Given the description of an element on the screen output the (x, y) to click on. 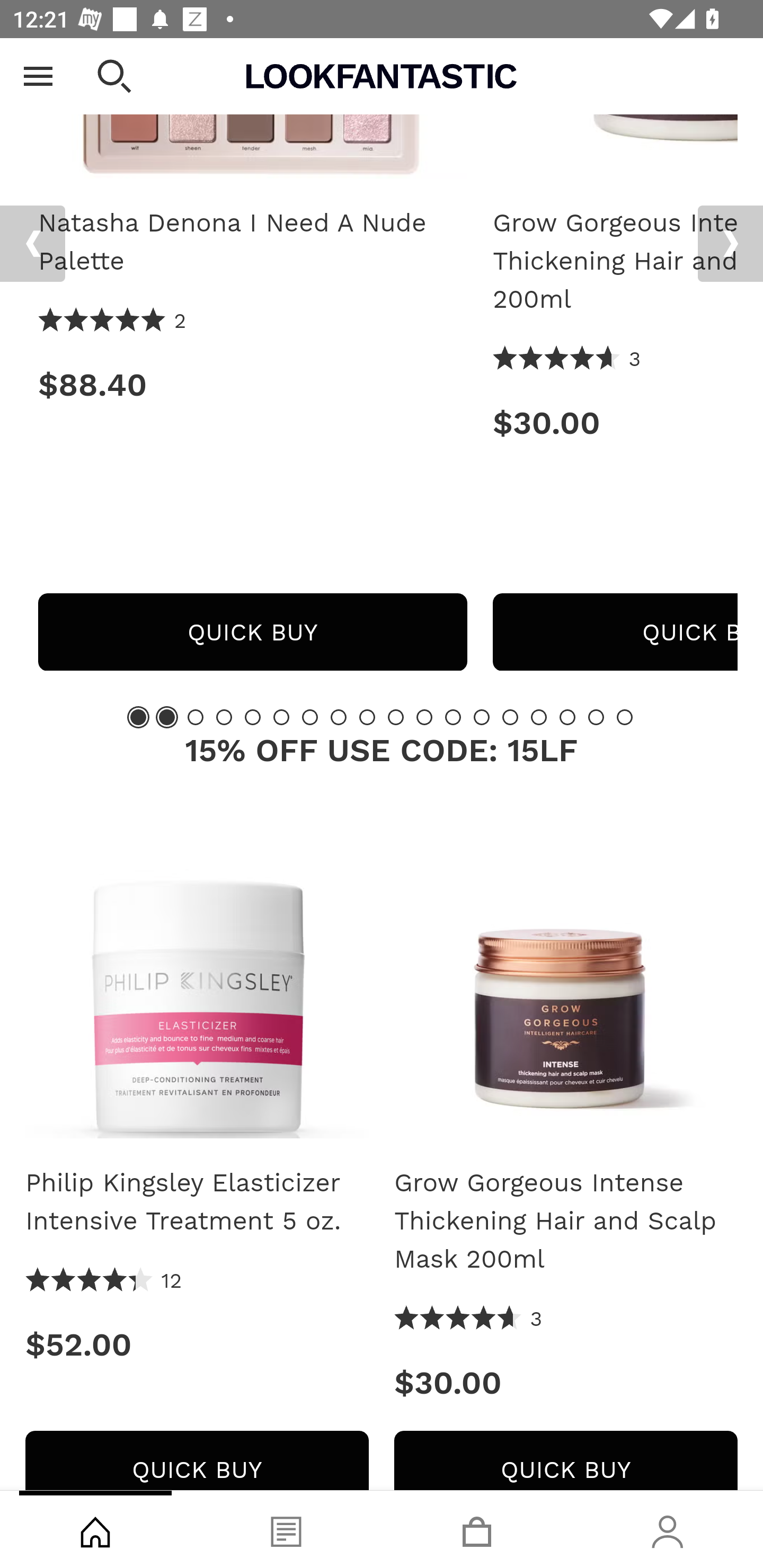
Natasha Denona I Need A Nude Palette (252, 242)
Previous (32, 243)
Next (730, 243)
5.0 Stars 2 Reviews (112, 321)
4.67 Stars 3 Reviews (567, 359)
Price: $88.40 (252, 384)
Price: $30.00 (614, 422)
QUICK BUY NATASHA DENONA I NEED A NUDE PALETTE (252, 632)
Showing Slide 1 (Current Item) (138, 716)
Showing Slide 2 (Current Item) (166, 716)
Slide 3 (195, 716)
Slide 4 (223, 716)
Slide 5 (252, 716)
Slide 6 (281, 716)
Slide 7 (310, 716)
Slide 8 (338, 716)
Slide 9 (367, 716)
Slide 10 (395, 716)
Slide 11 (424, 716)
Slide 12 (452, 716)
Slide 13 (481, 716)
Slide 14 (510, 716)
Slide 15 (539, 716)
Slide 16 (567, 716)
Slide 17 (596, 716)
Slide 18 (624, 716)
4.33 Stars 12 Reviews (104, 1281)
4.67 Stars 3 Reviews (468, 1319)
Price: $52.00 (196, 1344)
Price: $30.00 (565, 1383)
Shop, tab, 1 of 4 (95, 1529)
Blog, tab, 2 of 4 (285, 1529)
Basket, tab, 3 of 4 (476, 1529)
Account, tab, 4 of 4 (667, 1529)
